Given the description of an element on the screen output the (x, y) to click on. 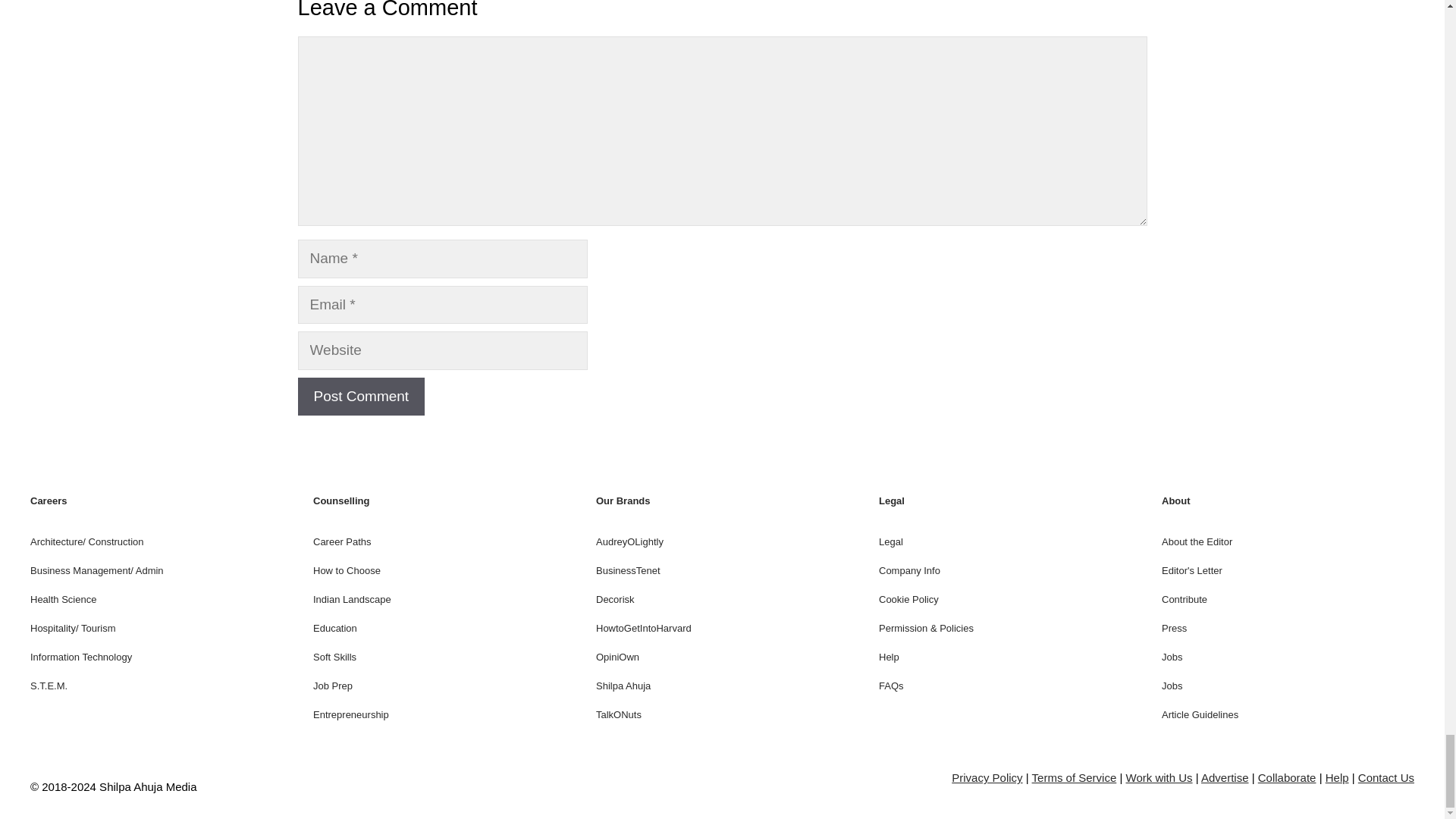
Post Comment (361, 396)
